Given the description of an element on the screen output the (x, y) to click on. 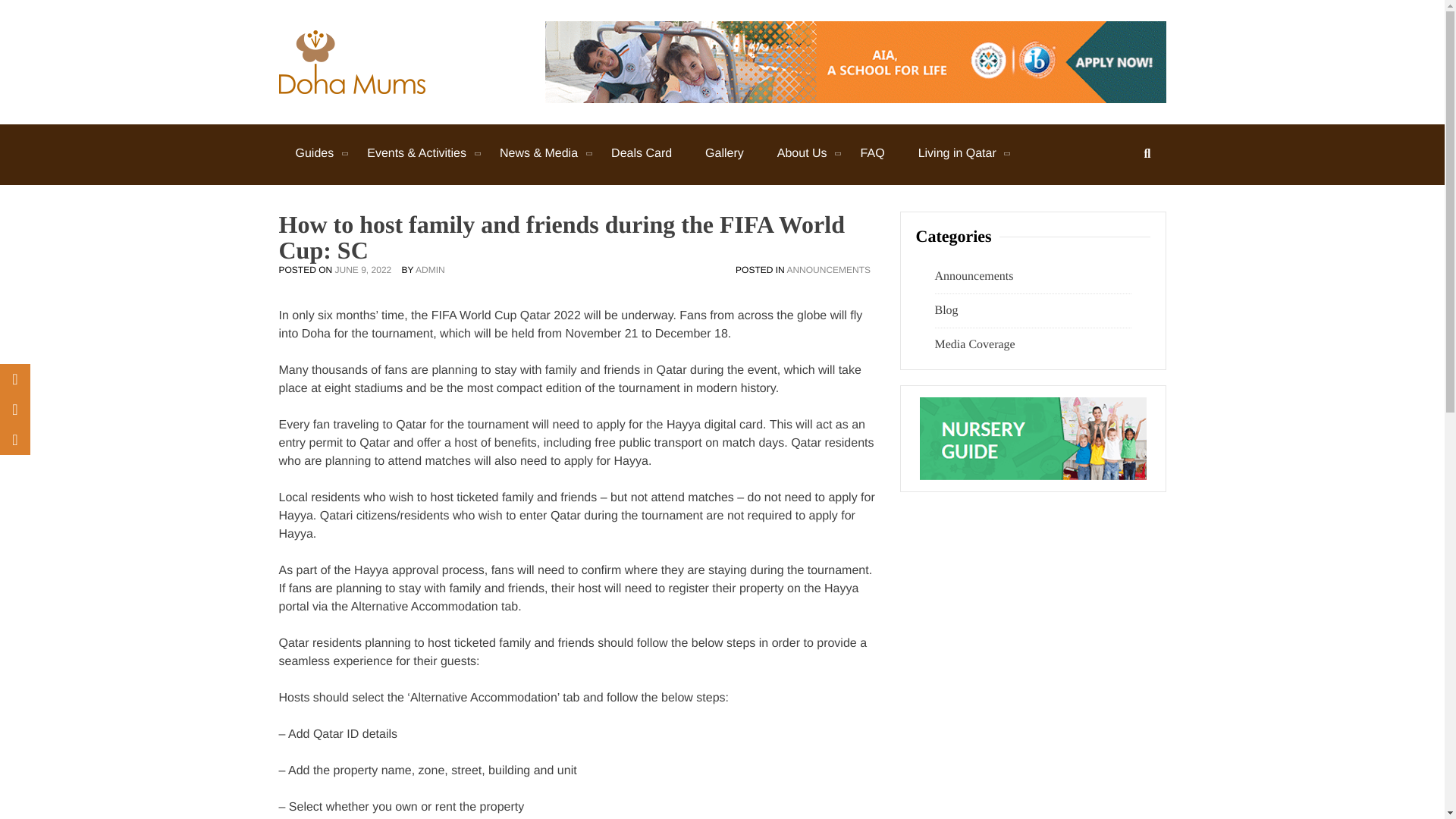
About Us (802, 153)
Doha Mums (493, 80)
Deals Card (641, 153)
Living in Qatar (957, 153)
Gallery (724, 153)
Guides (314, 153)
FAQ (872, 153)
